Given the description of an element on the screen output the (x, y) to click on. 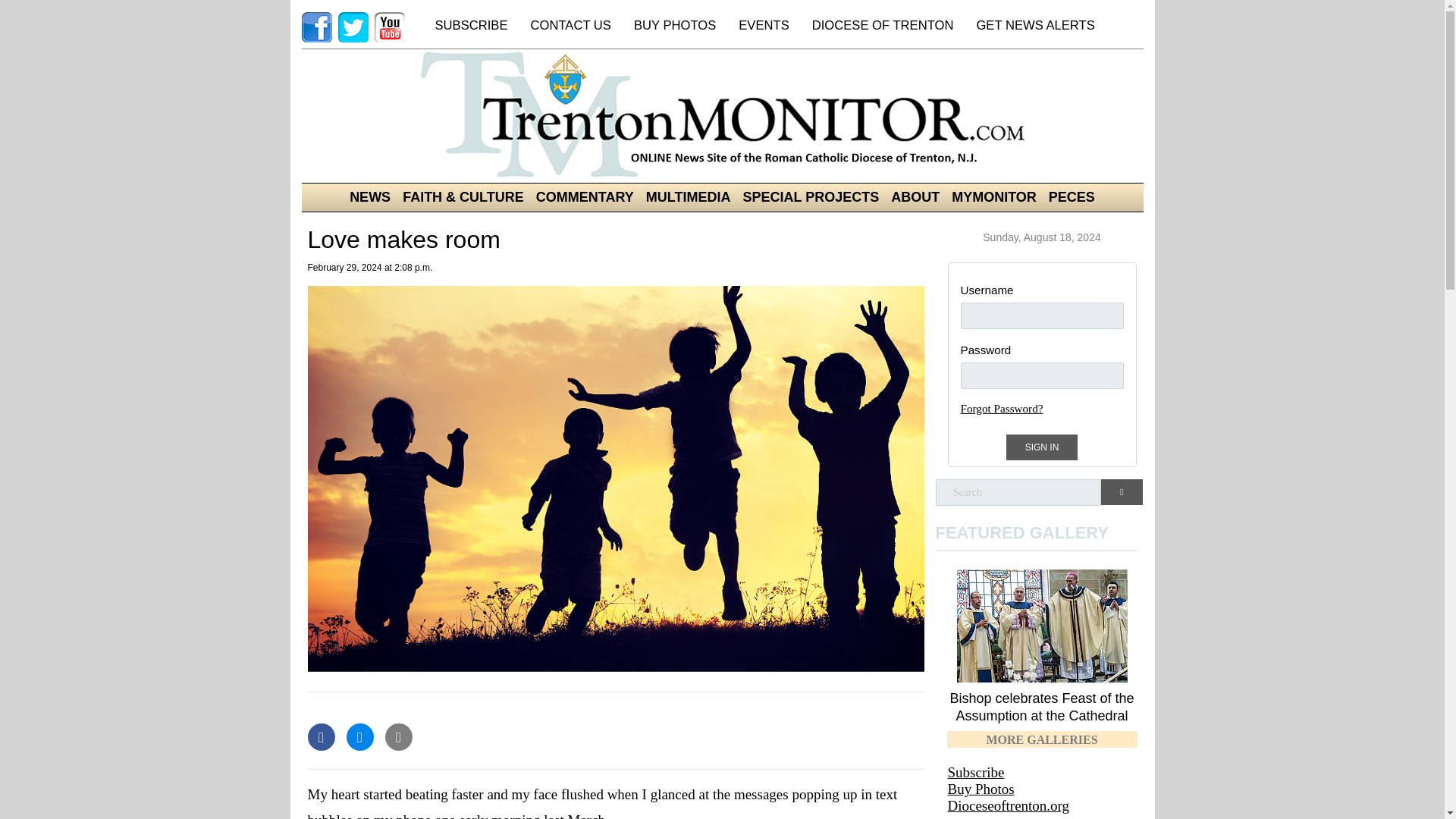
DIOCESE OF TRENTON (877, 27)
NEWS (369, 197)
SIGN IN (1042, 447)
EVENTS (759, 27)
GET NEWS ALERTS (1030, 27)
COMMENTARY (584, 197)
CONTACT US (566, 27)
BUY PHOTOS (670, 27)
SUBSCRIBE (467, 27)
